Given the description of an element on the screen output the (x, y) to click on. 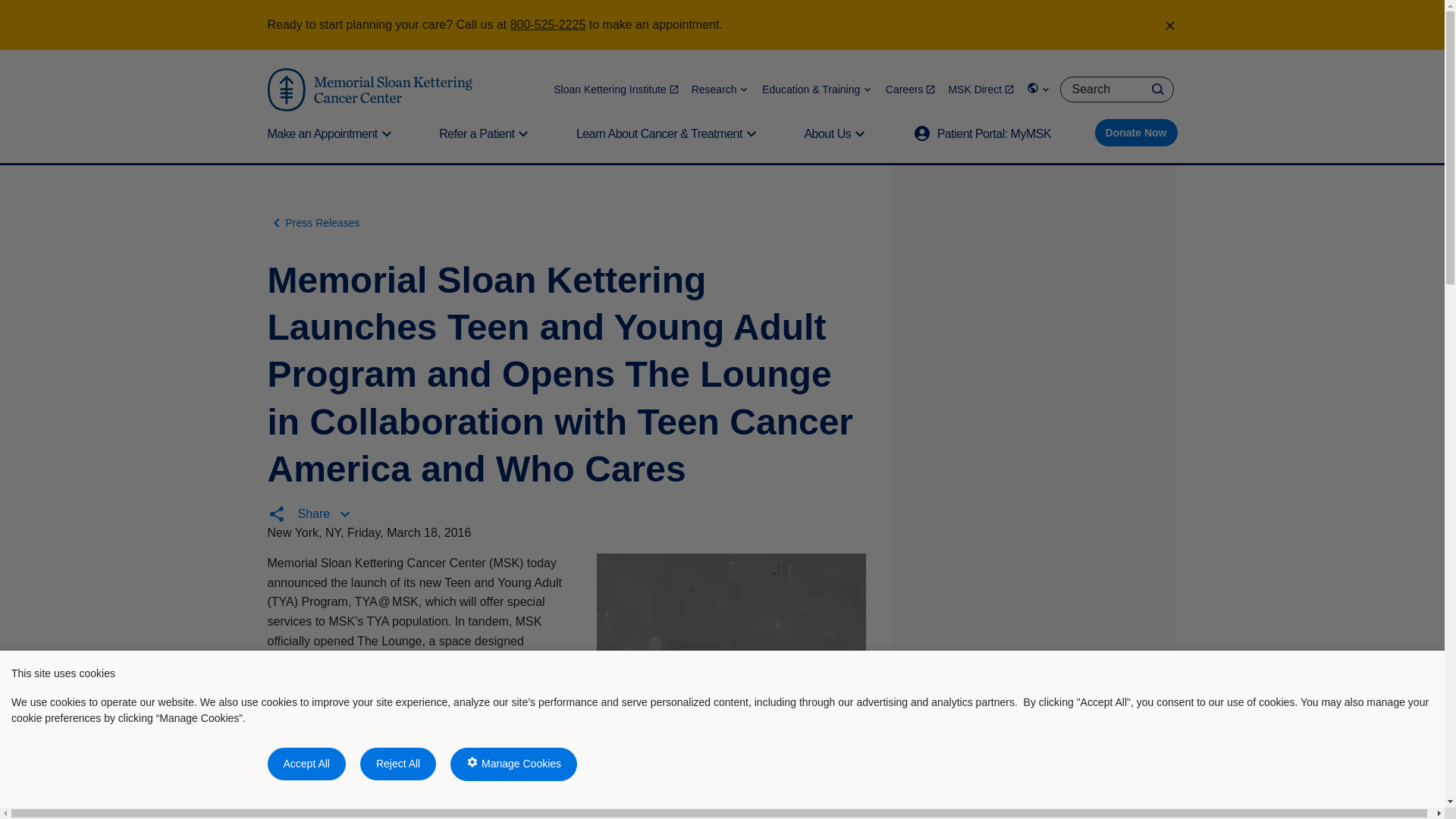
Donate Now (1135, 132)
Manage Cookies (512, 764)
Reject All (397, 763)
Research (720, 89)
Sloan Kettering Institute (615, 89)
800-525-2225 (548, 24)
Insert a query. Press enter to send (1115, 88)
Accept All (305, 763)
